Given the description of an element on the screen output the (x, y) to click on. 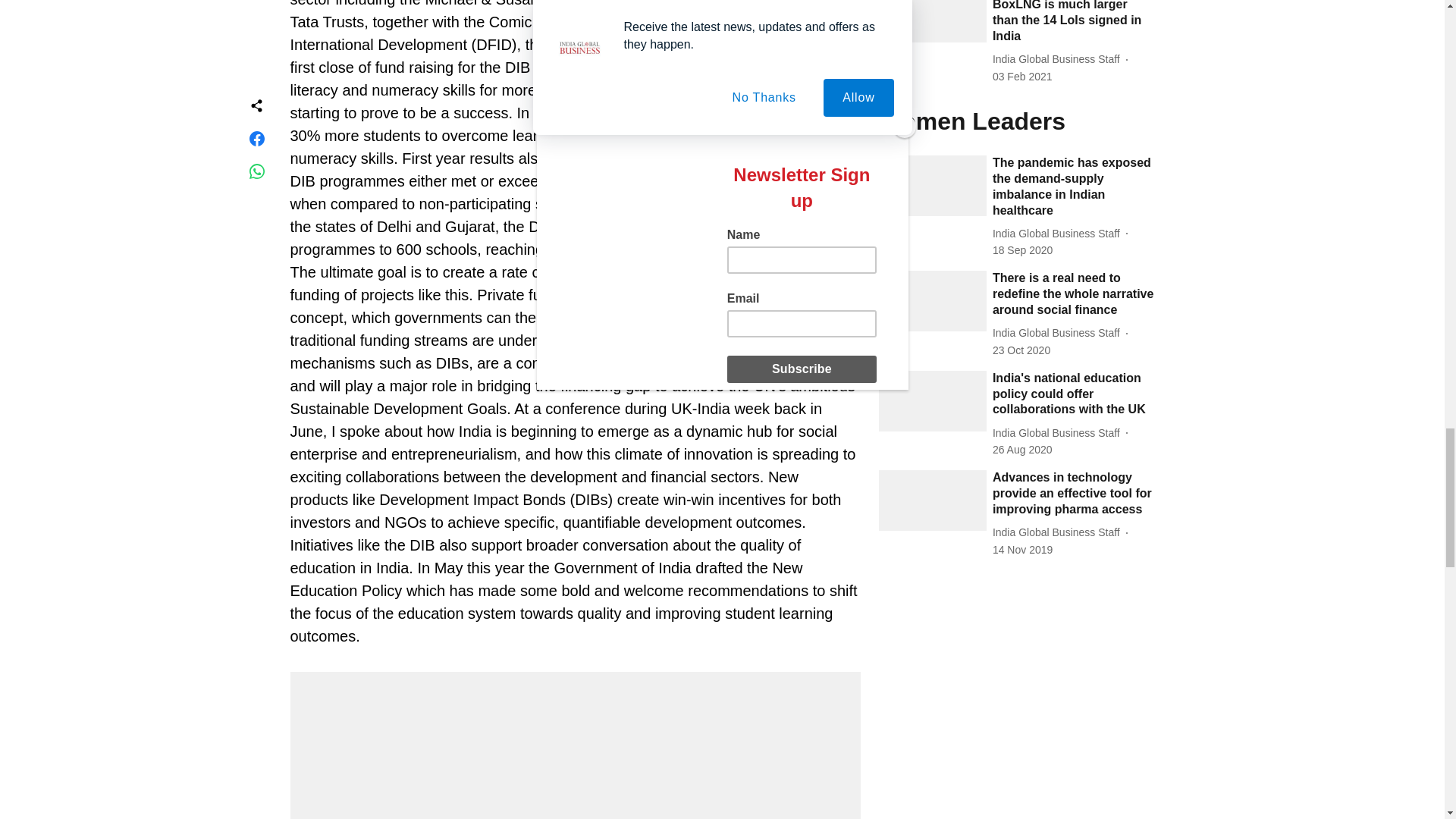
2021-02-03 05:51 (1022, 76)
